Given the description of an element on the screen output the (x, y) to click on. 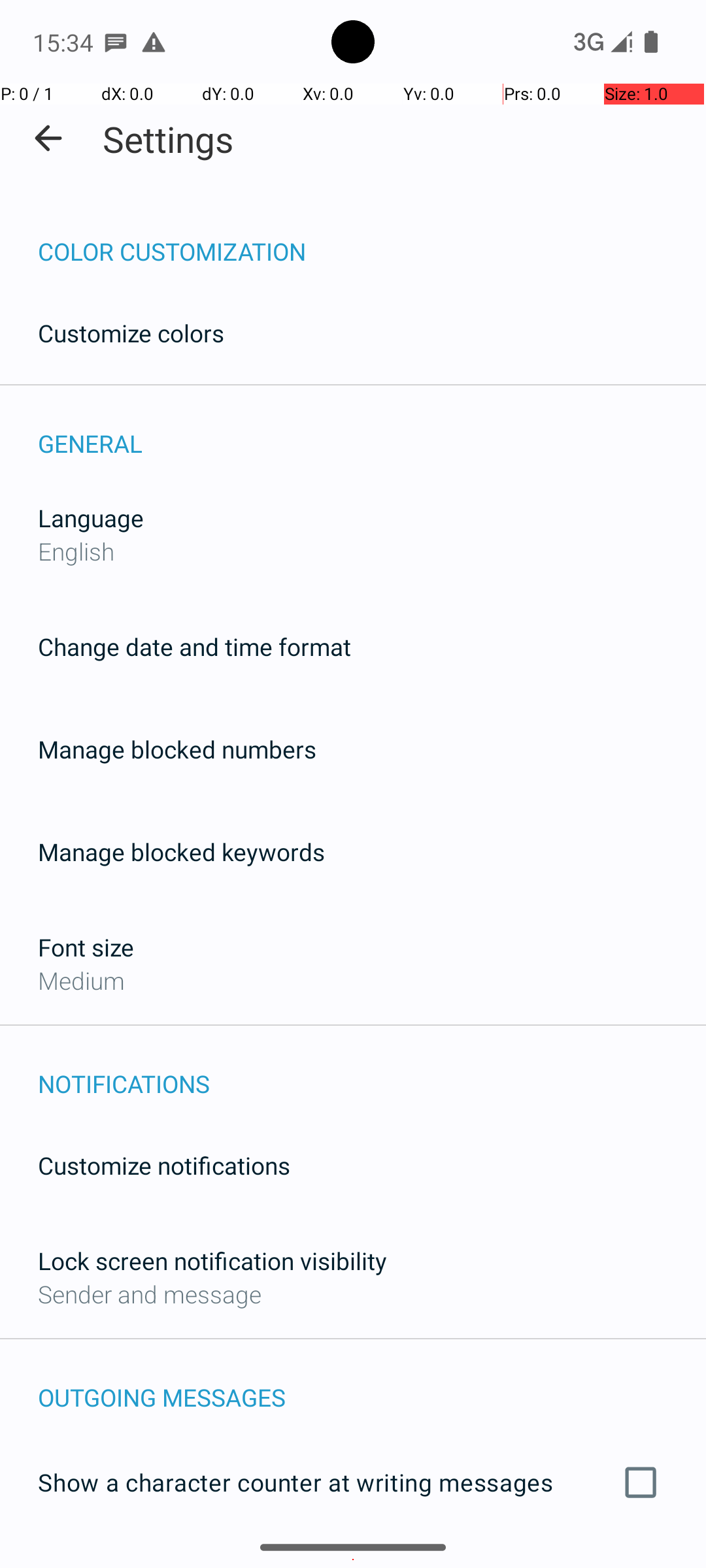
NOTIFICATIONS Element type: android.widget.TextView (371, 1069)
OUTGOING MESSAGES Element type: android.widget.TextView (371, 1383)
Change date and time format Element type: android.widget.TextView (194, 646)
Manage blocked numbers Element type: android.widget.TextView (176, 748)
Manage blocked keywords Element type: android.widget.TextView (180, 851)
Font size Element type: android.widget.TextView (85, 946)
Medium Element type: android.widget.TextView (80, 979)
Lock screen notification visibility Element type: android.widget.TextView (211, 1260)
Sender and message Element type: android.widget.TextView (149, 1293)
Show a character counter at writing messages Element type: android.widget.CheckBox (352, 1482)
Remove accents and diacritics at sending messages Element type: android.widget.CheckBox (352, 1559)
